Given the description of an element on the screen output the (x, y) to click on. 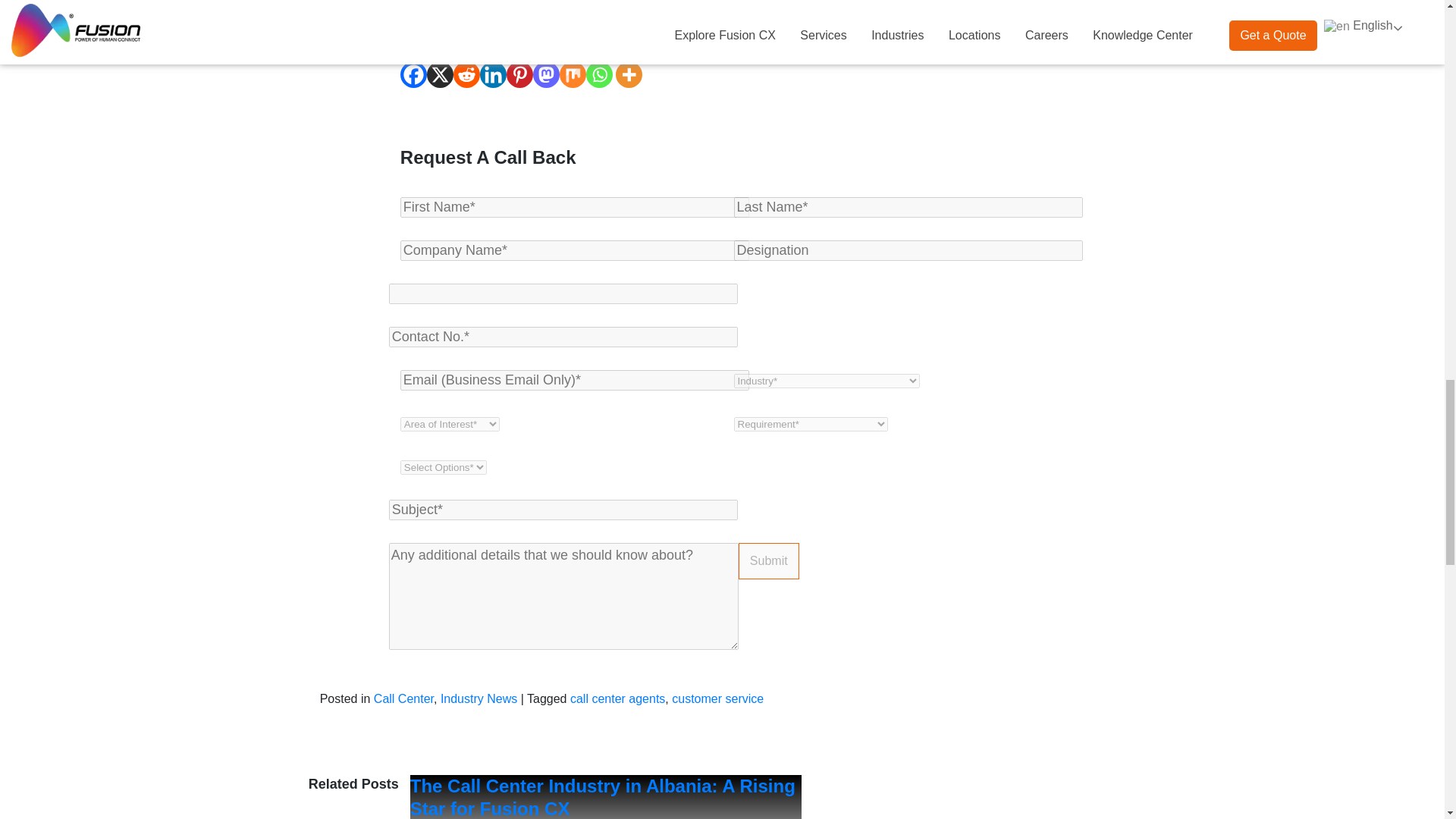
Mix (572, 74)
Facebook (413, 74)
Mastodon (545, 74)
Pinterest (519, 74)
More (628, 74)
Linkedin (493, 74)
Reddit (466, 74)
Whatsapp (599, 74)
X (439, 74)
